Given the description of an element on the screen output the (x, y) to click on. 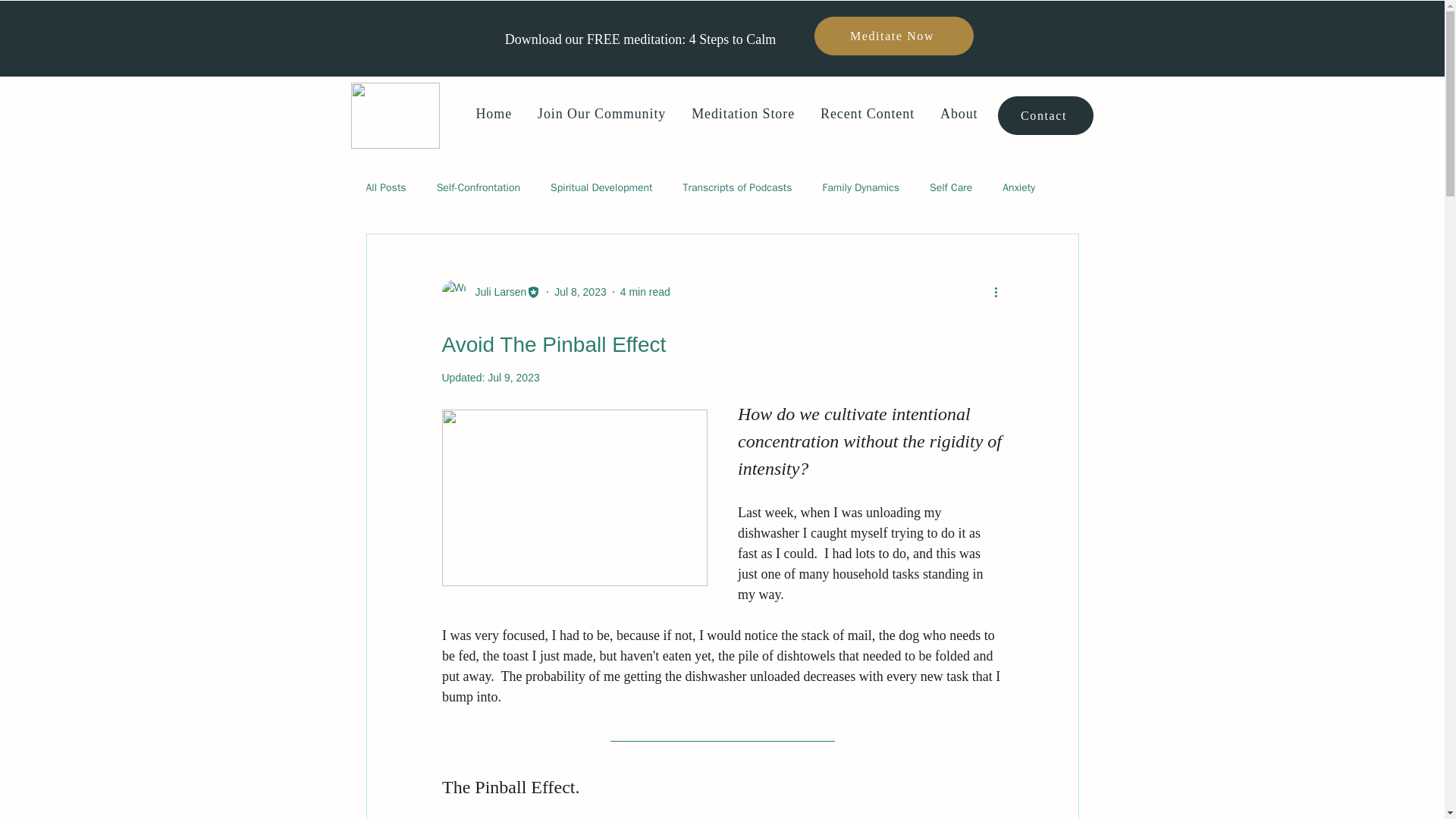
Jul 8, 2023 (580, 291)
Meditation Store (742, 113)
Anxiety (1019, 187)
Home (494, 113)
About (959, 113)
Join Our Community (601, 113)
272f1c75-5eb5-424a-90d7-68bbfcf006b9 2.png (394, 115)
4 min read (644, 291)
All Posts (385, 187)
Juli Larsen (495, 291)
